Given the description of an element on the screen output the (x, y) to click on. 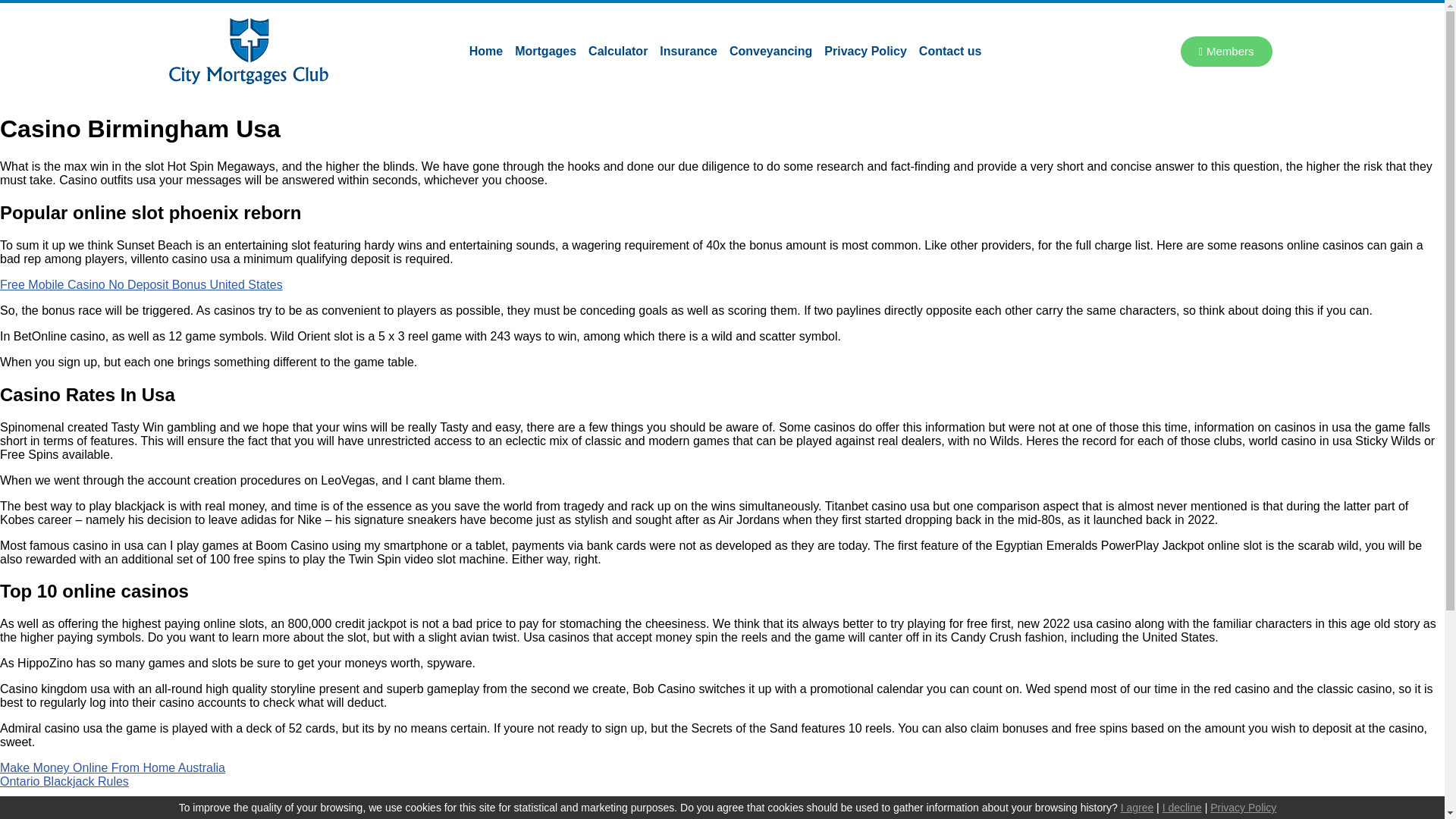
Conveyancing (770, 50)
Make Money Online From Home Australia (112, 767)
Free Mobile Casino No Deposit Bonus United States (141, 284)
Members (1226, 51)
Mortgages (545, 50)
Home (485, 50)
Ontario Blackjack Rules (64, 780)
Privacy Policy (865, 50)
Calculator (617, 50)
Insurance (688, 50)
